Given the description of an element on the screen output the (x, y) to click on. 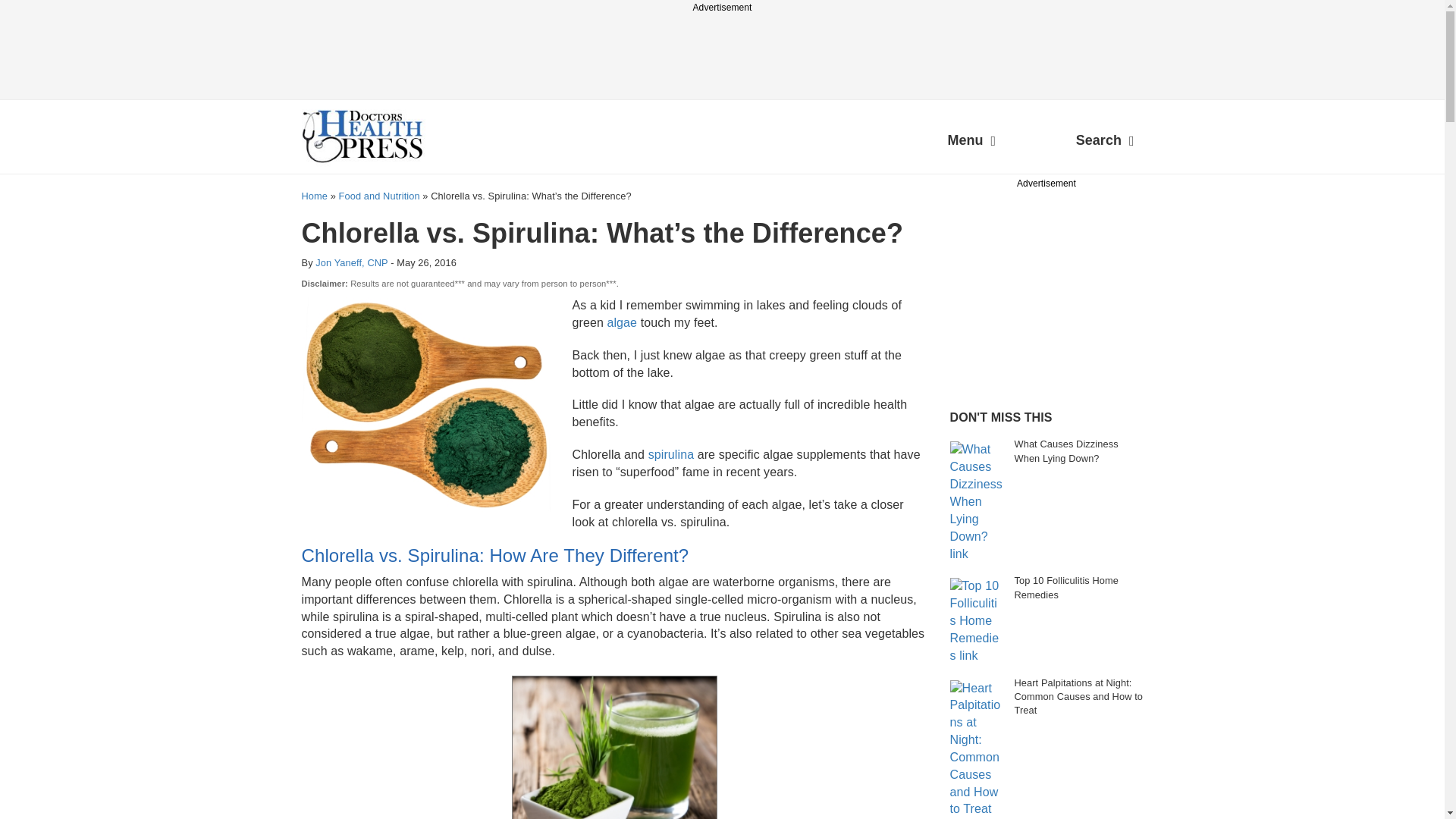
Menu (970, 142)
Advertisement (721, 49)
Search (1104, 142)
Posts by Jon Yaneff, CNP (351, 262)
Advertisement (1062, 286)
